Given the description of an element on the screen output the (x, y) to click on. 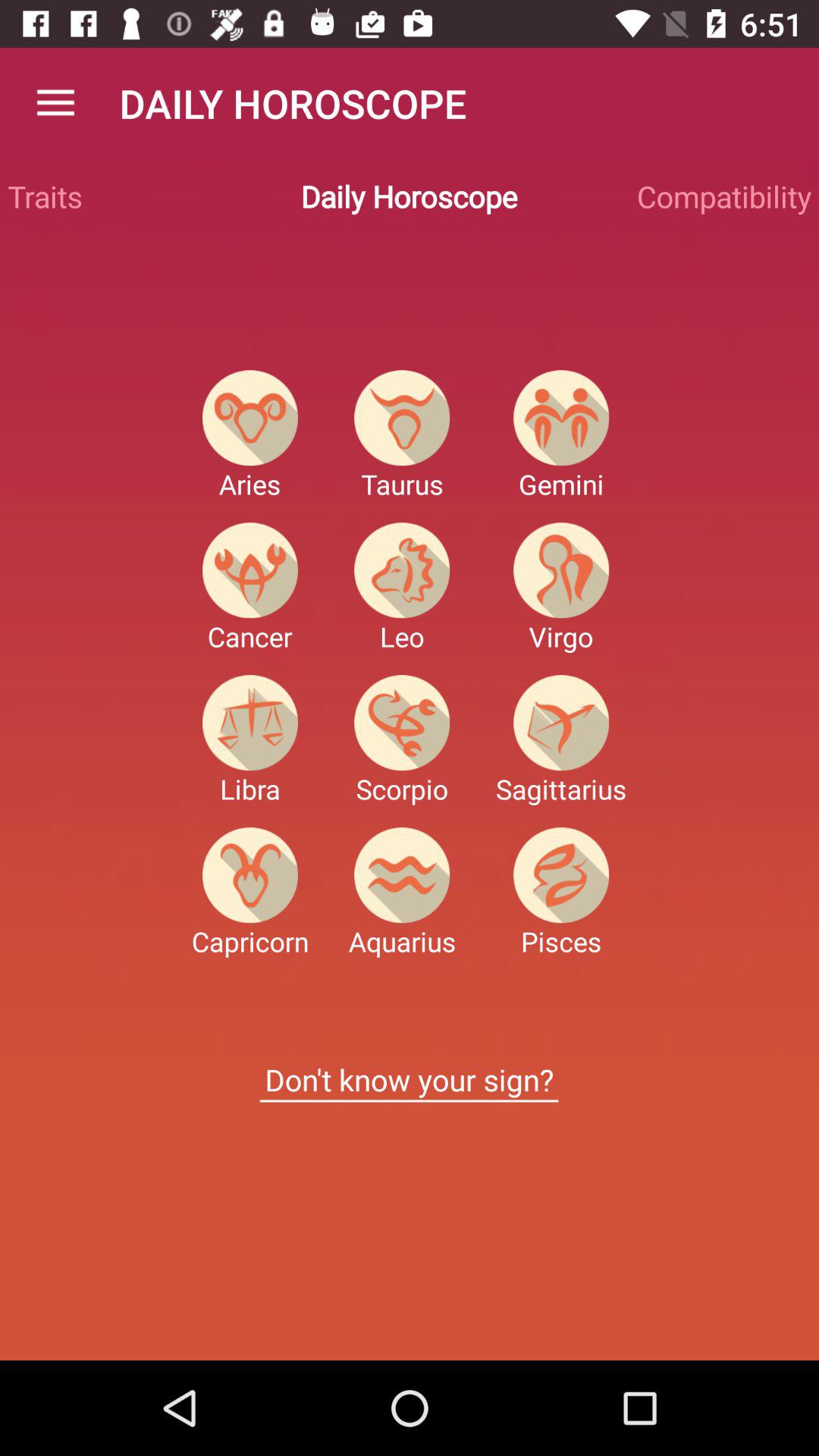
click above gemini (561, 417)
